Given the description of an element on the screen output the (x, y) to click on. 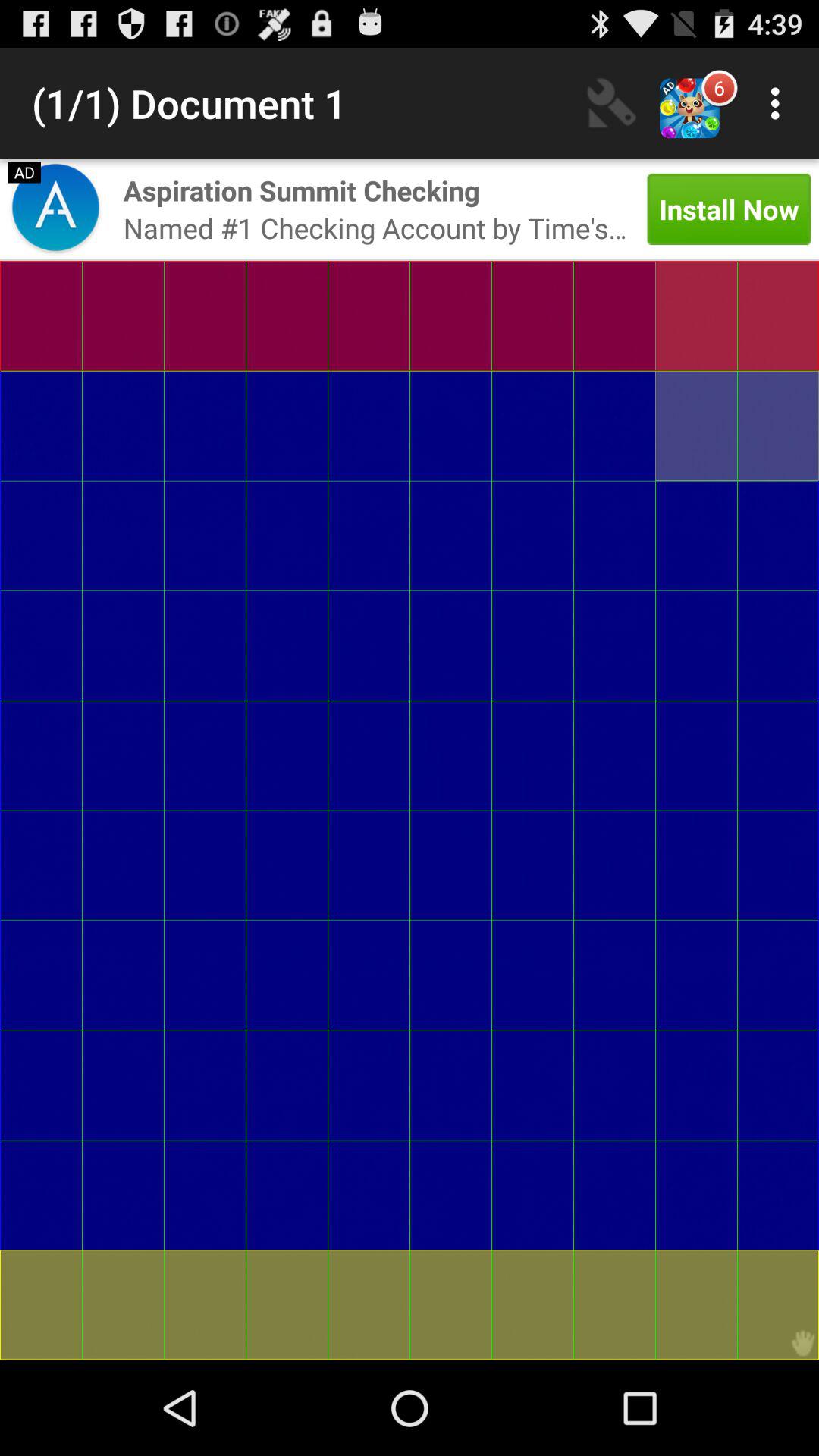
open the icon above the install now (611, 103)
